Given the description of an element on the screen output the (x, y) to click on. 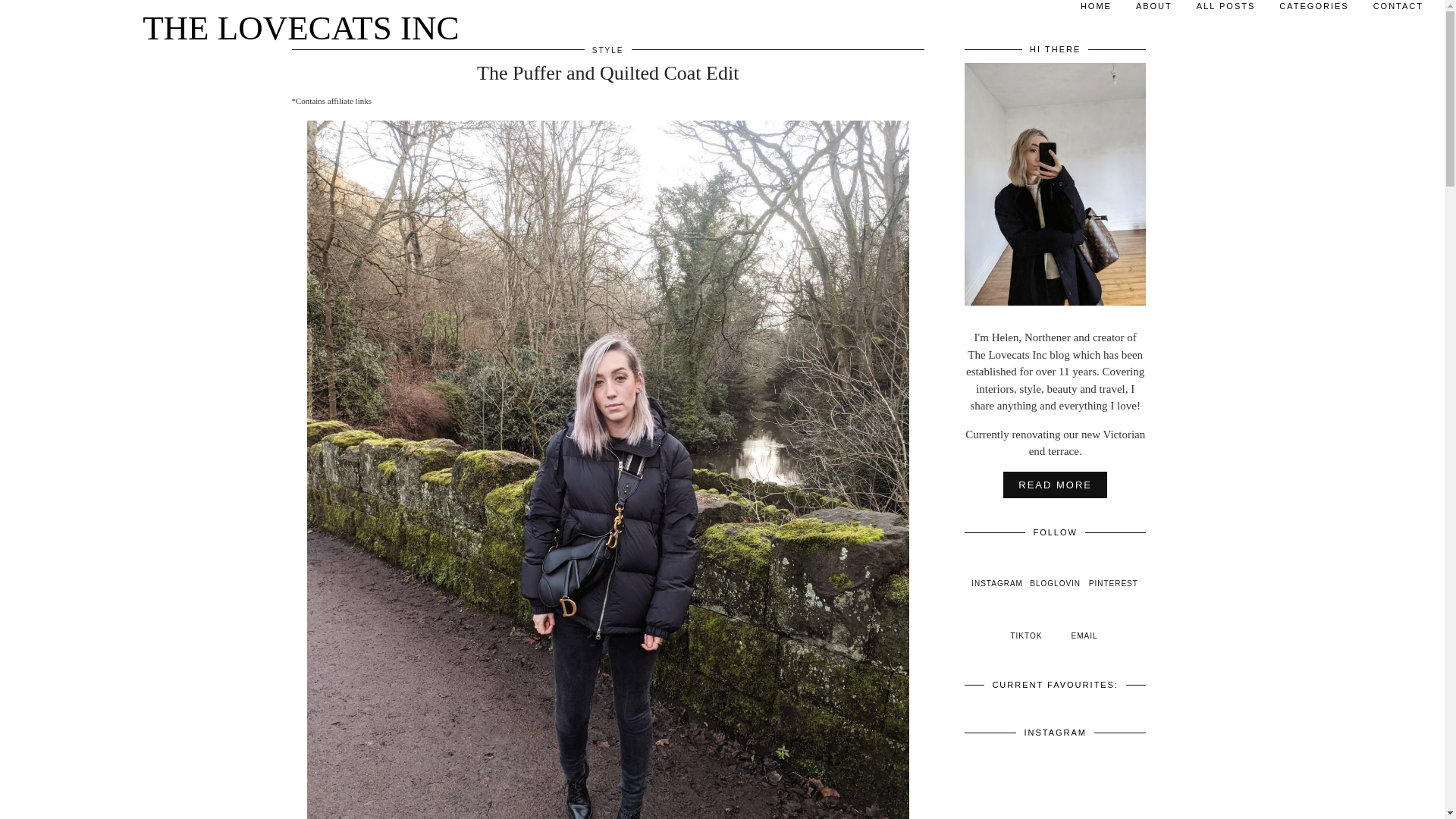
HOME (1096, 10)
The Lovecats Inc (300, 28)
ALL POSTS (1226, 10)
ABOUT (1154, 10)
CATEGORIES (1312, 10)
CONTACT (1398, 10)
